Given the description of an element on the screen output the (x, y) to click on. 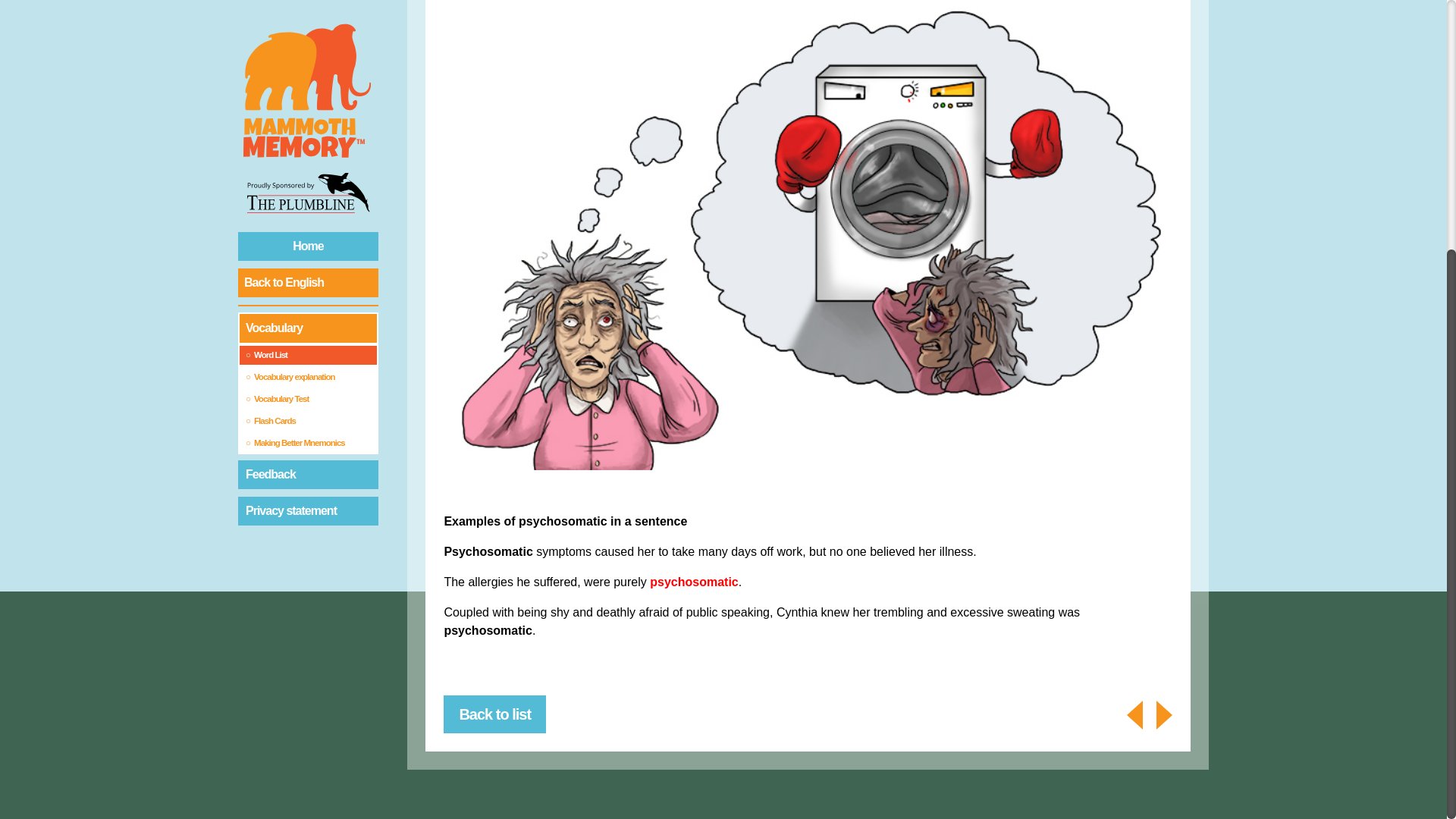
Back to list (495, 714)
Word List (308, 3)
Vocabulary Test (308, 40)
Feedback (308, 115)
Making Better Mnemonics (308, 84)
Privacy statement (308, 152)
Vocabulary explanation (308, 18)
Flash Cards (308, 62)
